Given the description of an element on the screen output the (x, y) to click on. 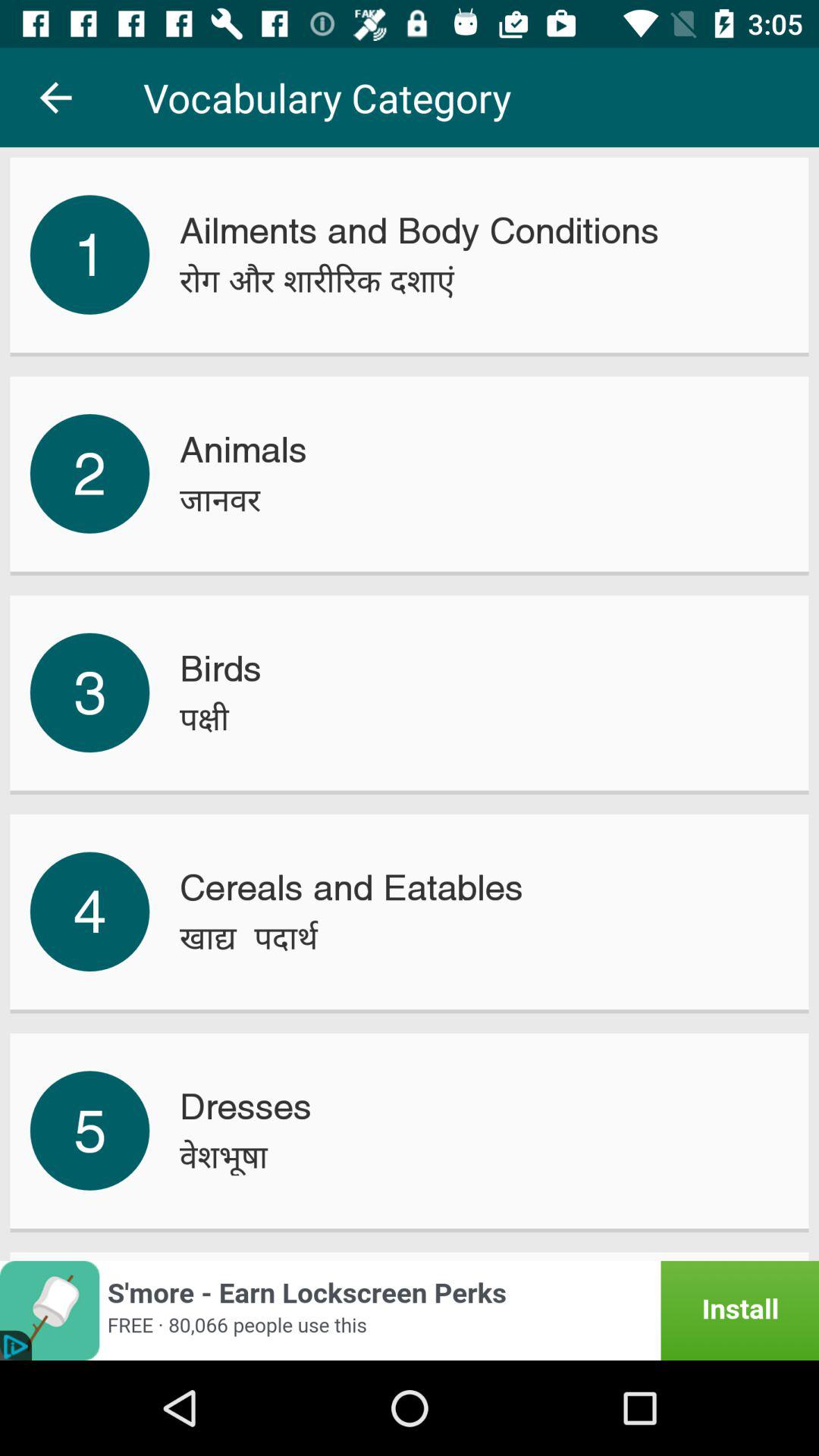
scroll to the 3 (89, 692)
